Given the description of an element on the screen output the (x, y) to click on. 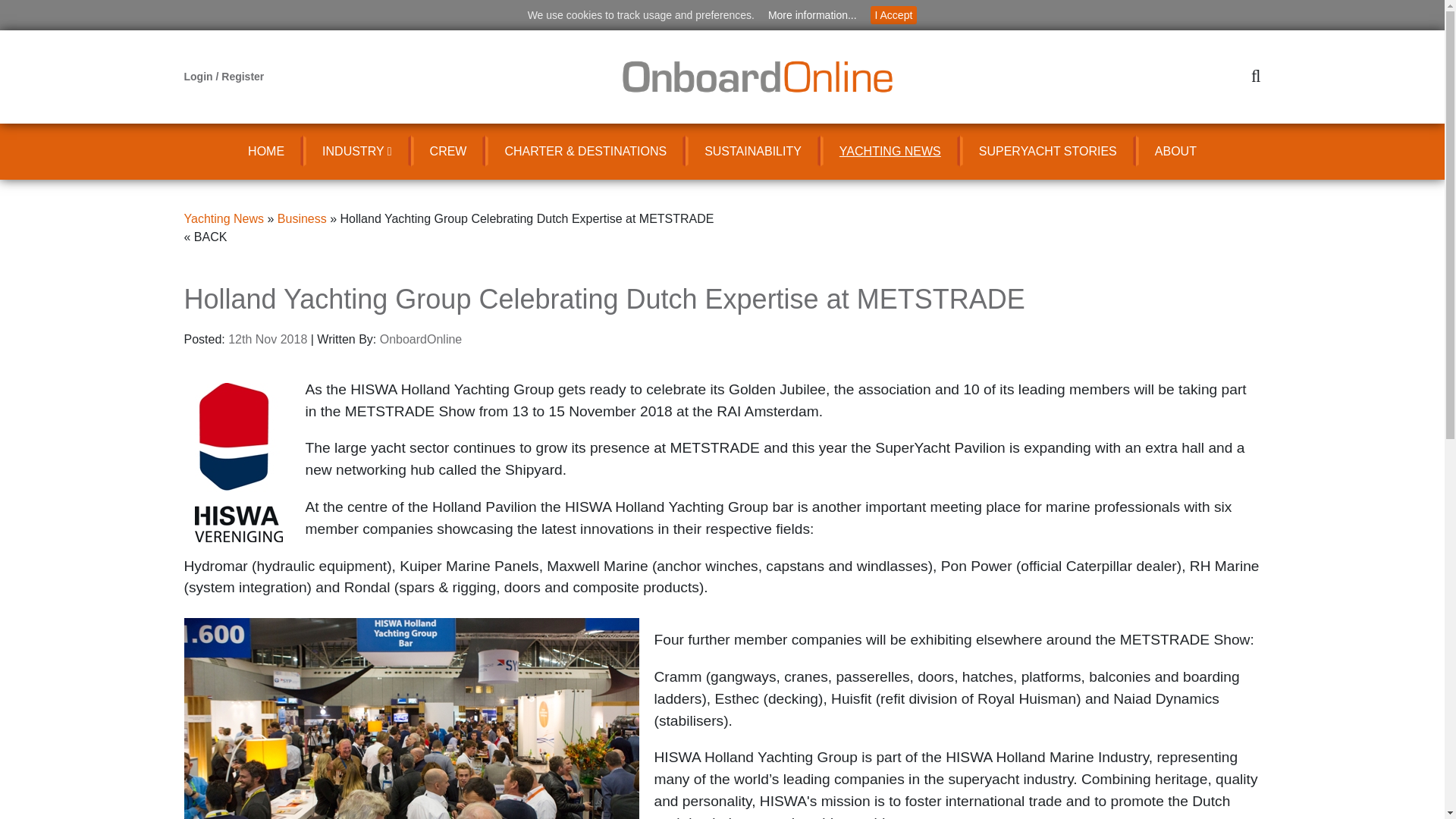
ABOUT (1175, 151)
Register (242, 76)
ABOUT (1175, 151)
HOME (265, 151)
SUPERYACHT STORIES (1047, 151)
login (199, 76)
Crew (448, 151)
Superyacht Stories (1047, 151)
Yachting News (890, 151)
I Accept (893, 14)
Yachting News (223, 218)
INDUSTRY (356, 151)
YACHTING NEWS (890, 151)
More information... (811, 14)
SUSTAINABILITY (753, 151)
